Given the description of an element on the screen output the (x, y) to click on. 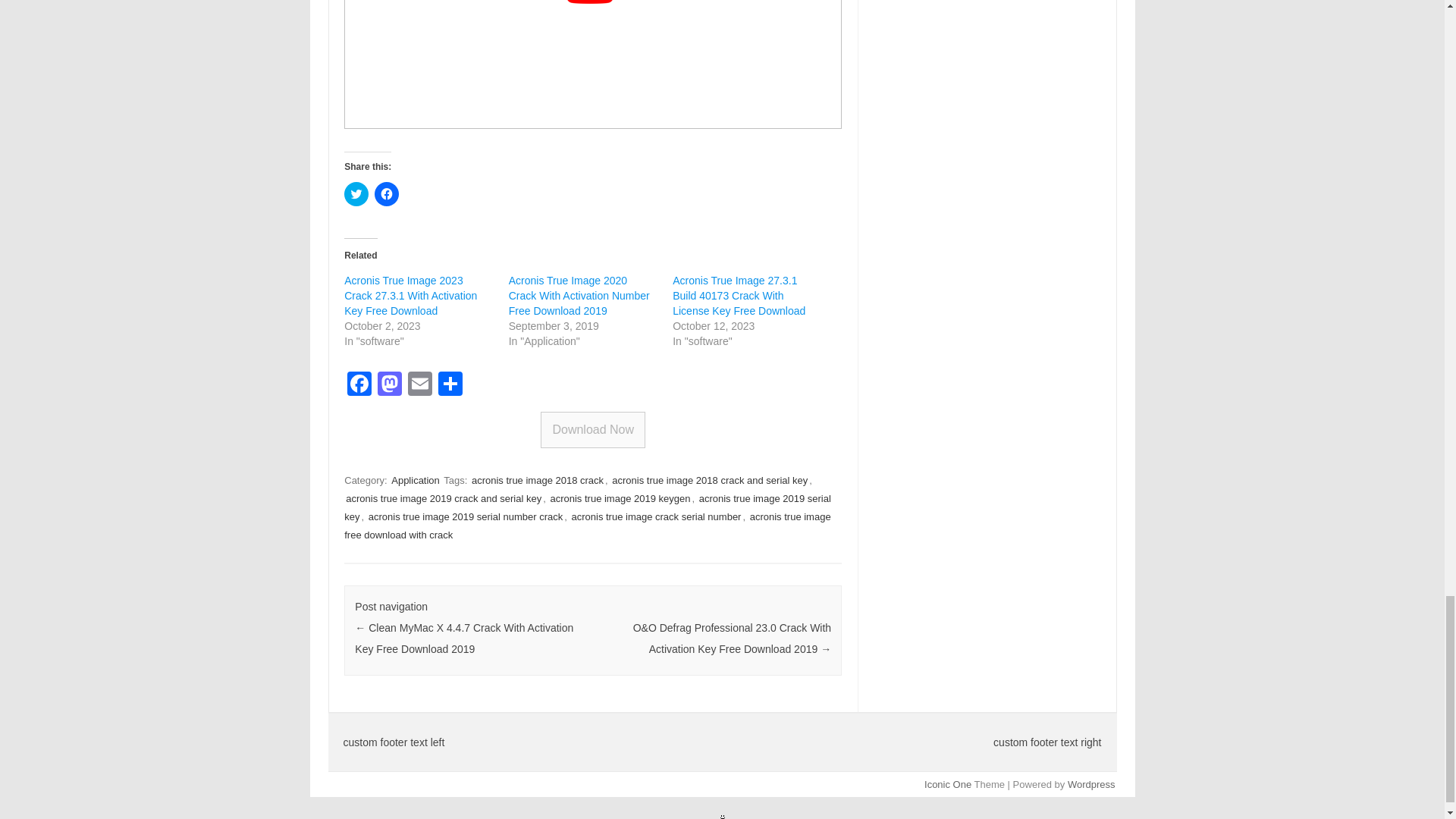
acronis true image 2019 serial key (587, 507)
Email (419, 385)
Mastodon (389, 385)
Facebook (358, 385)
Download Now (592, 429)
Email (419, 385)
Click to share on Twitter (355, 193)
Click to share on Facebook (386, 193)
acronis true image 2018 crack and serial key (709, 480)
Facebook (358, 385)
Application (415, 480)
